Given the description of an element on the screen output the (x, y) to click on. 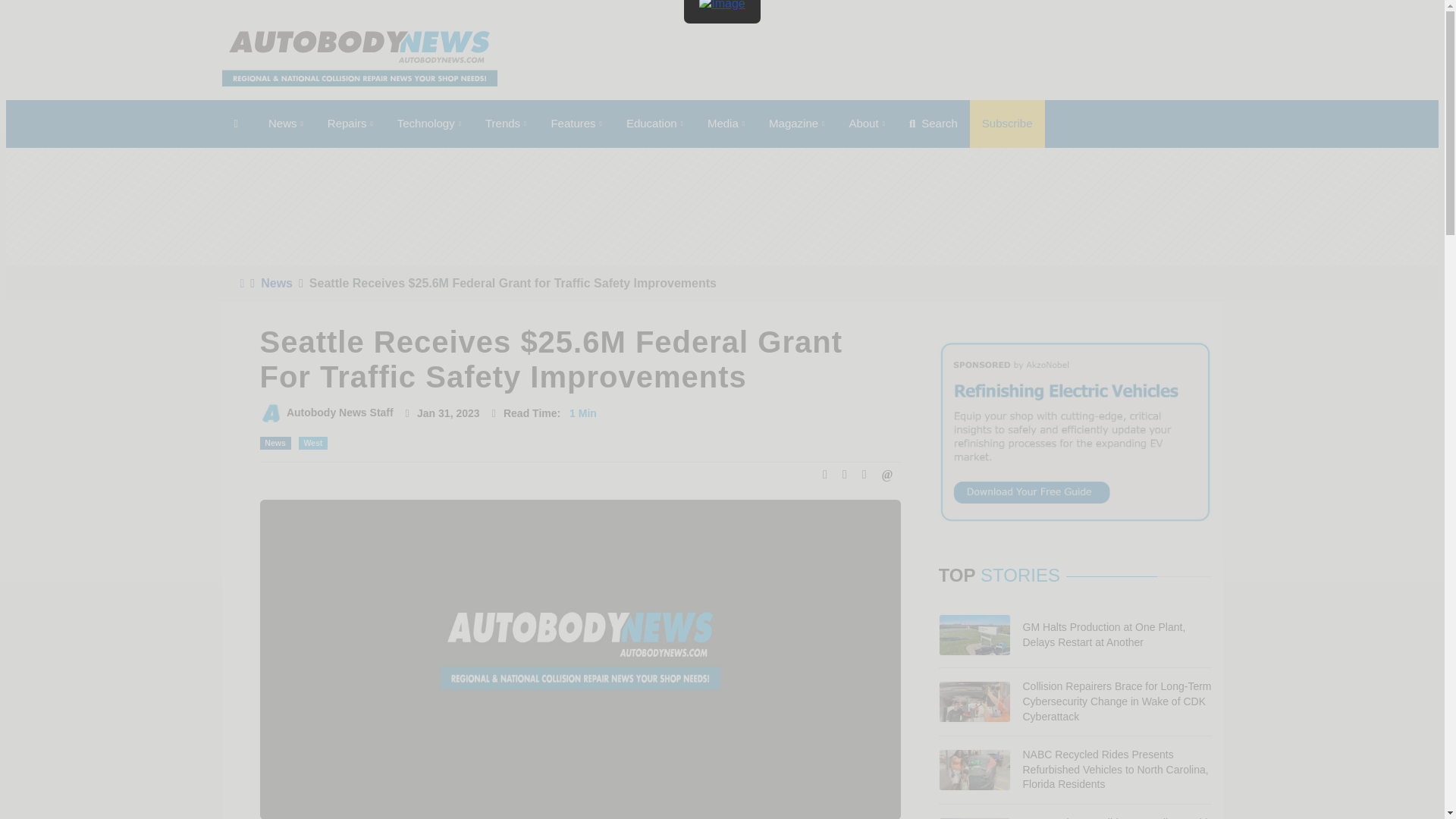
Autobody News (358, 57)
Repairs (350, 123)
News (285, 123)
3rd party ad content (947, 58)
3rd party ad content (471, 206)
3rd party ad content (971, 206)
Technology (429, 123)
Features (576, 123)
Trends (505, 123)
